Given the description of an element on the screen output the (x, y) to click on. 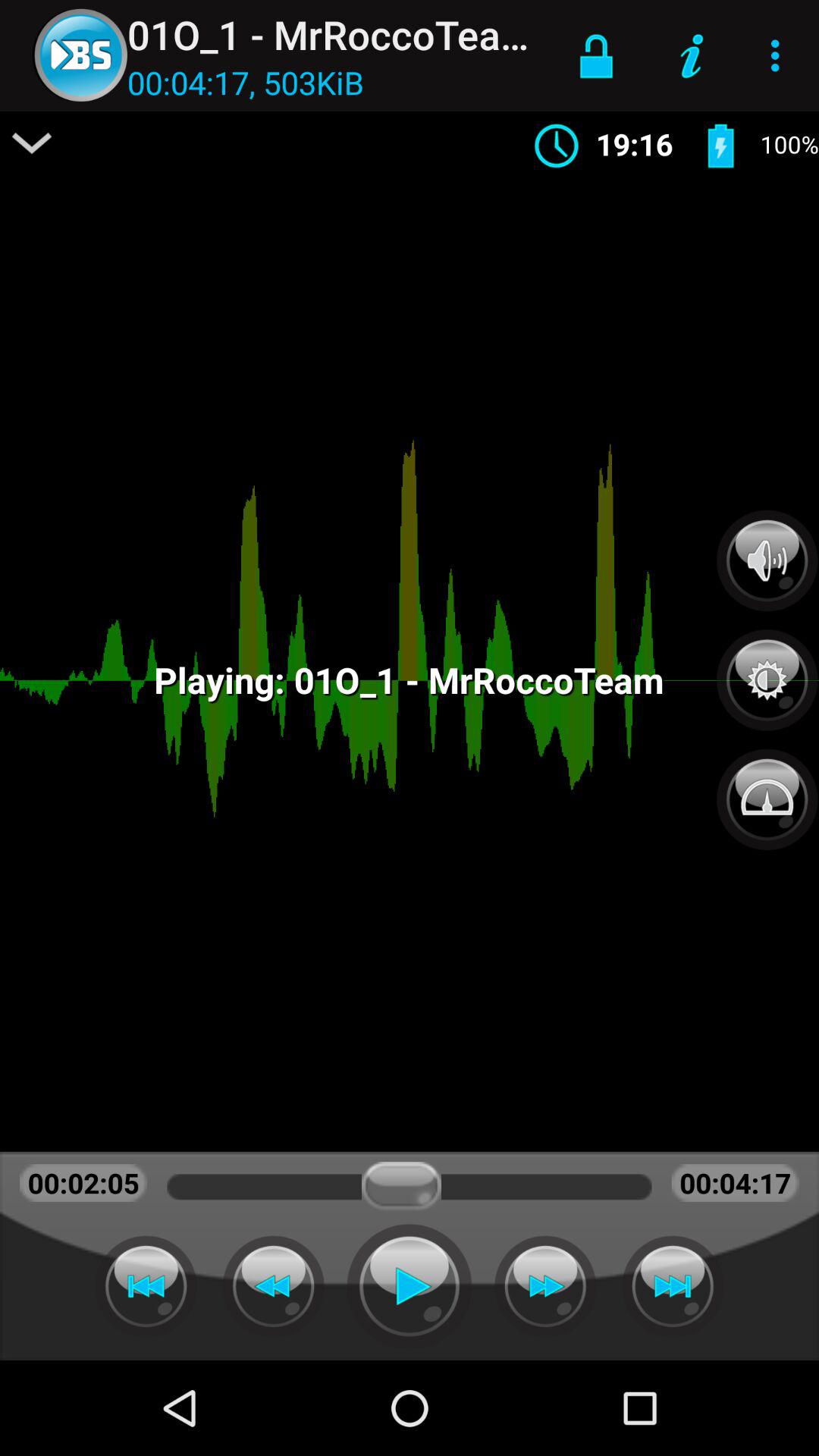
play song (409, 1286)
